Given the description of an element on the screen output the (x, y) to click on. 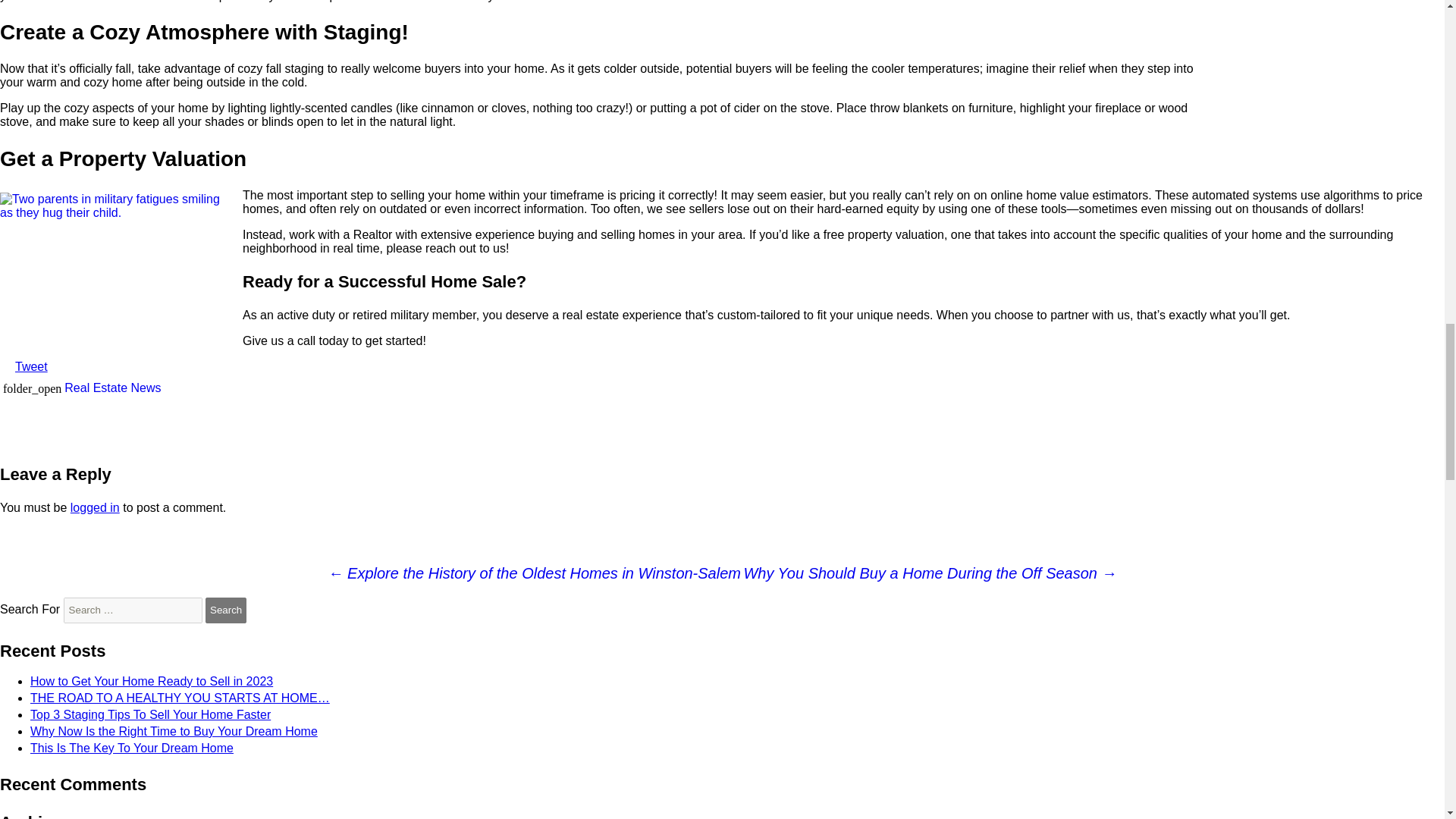
Search for: (133, 610)
Search (225, 610)
Search (225, 610)
